Given the description of an element on the screen output the (x, y) to click on. 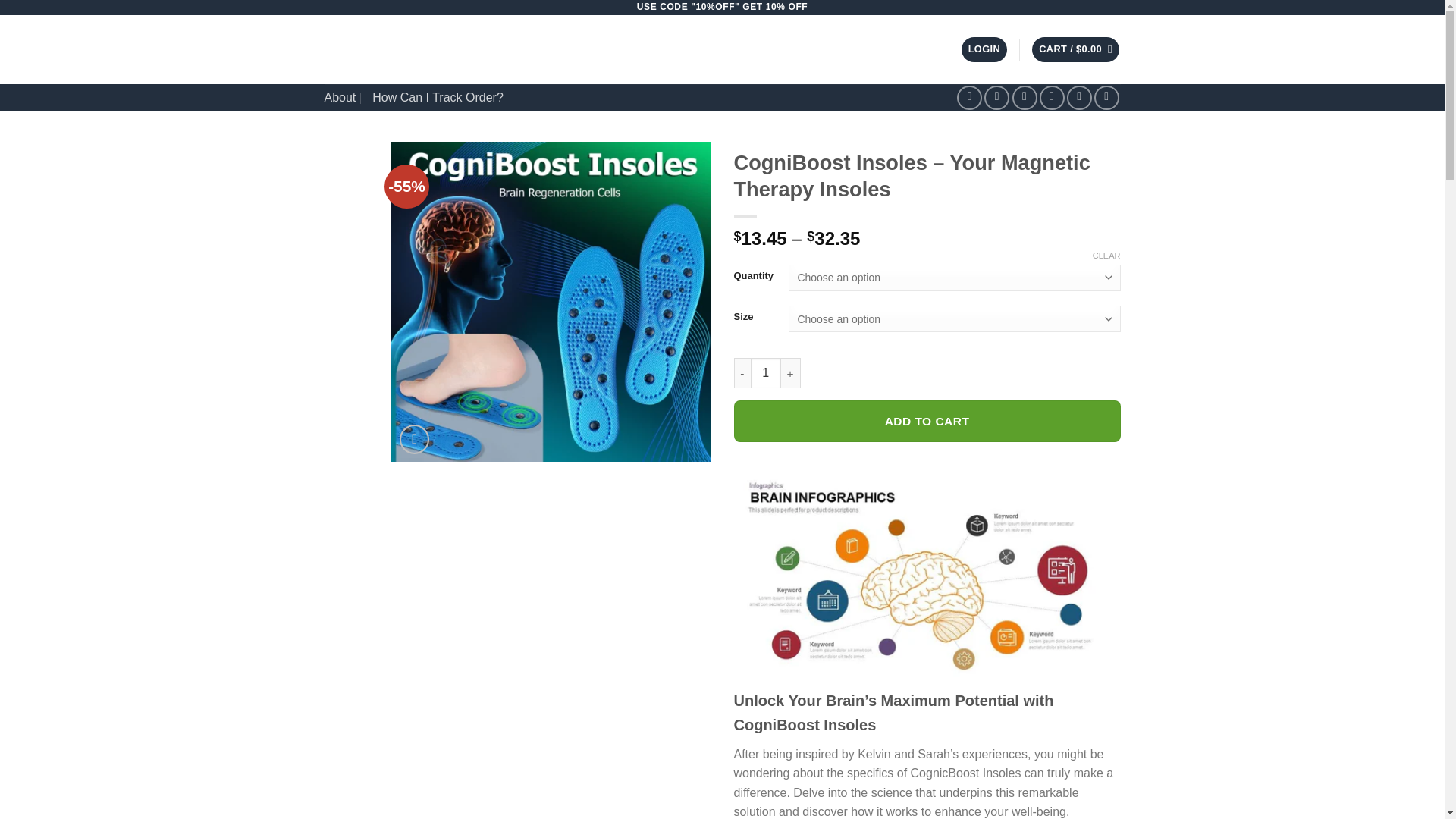
1 (765, 372)
Follow on Twitter (1023, 97)
How Can I Track Order? (437, 97)
Wizzgoo Shop (457, 49)
About (340, 97)
Follow on Facebook (968, 97)
Cart (1075, 49)
Zoom (413, 439)
Follow on Pinterest (1079, 97)
Follow on YouTube (1106, 97)
